Given the description of an element on the screen output the (x, y) to click on. 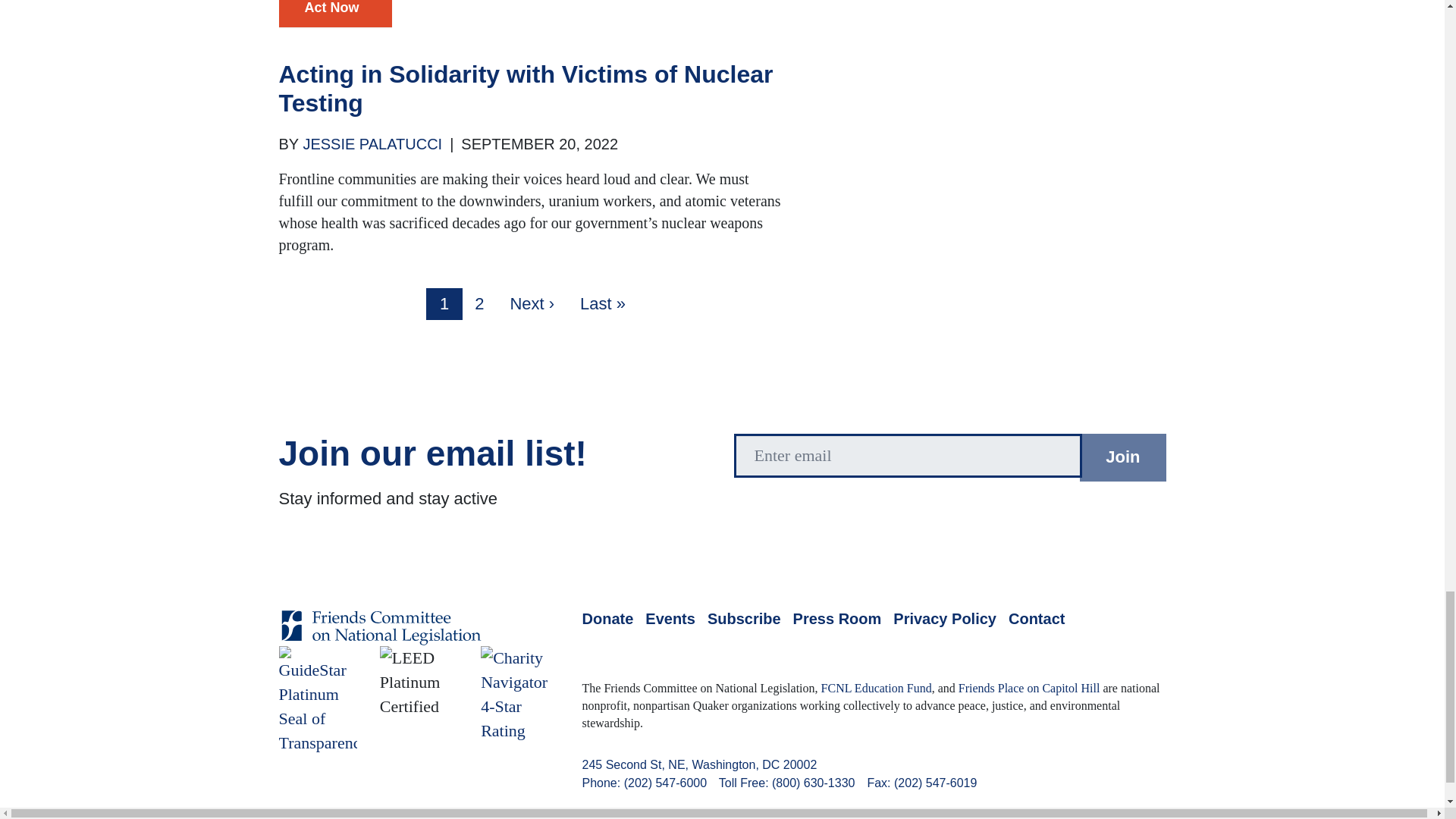
FCNL Home (381, 638)
Go to next page (531, 304)
Go to page 2 (479, 304)
Tuesday, September 20, 2022 - 12:14 (539, 143)
Go to last page (602, 304)
Current page (444, 304)
